Given the description of an element on the screen output the (x, y) to click on. 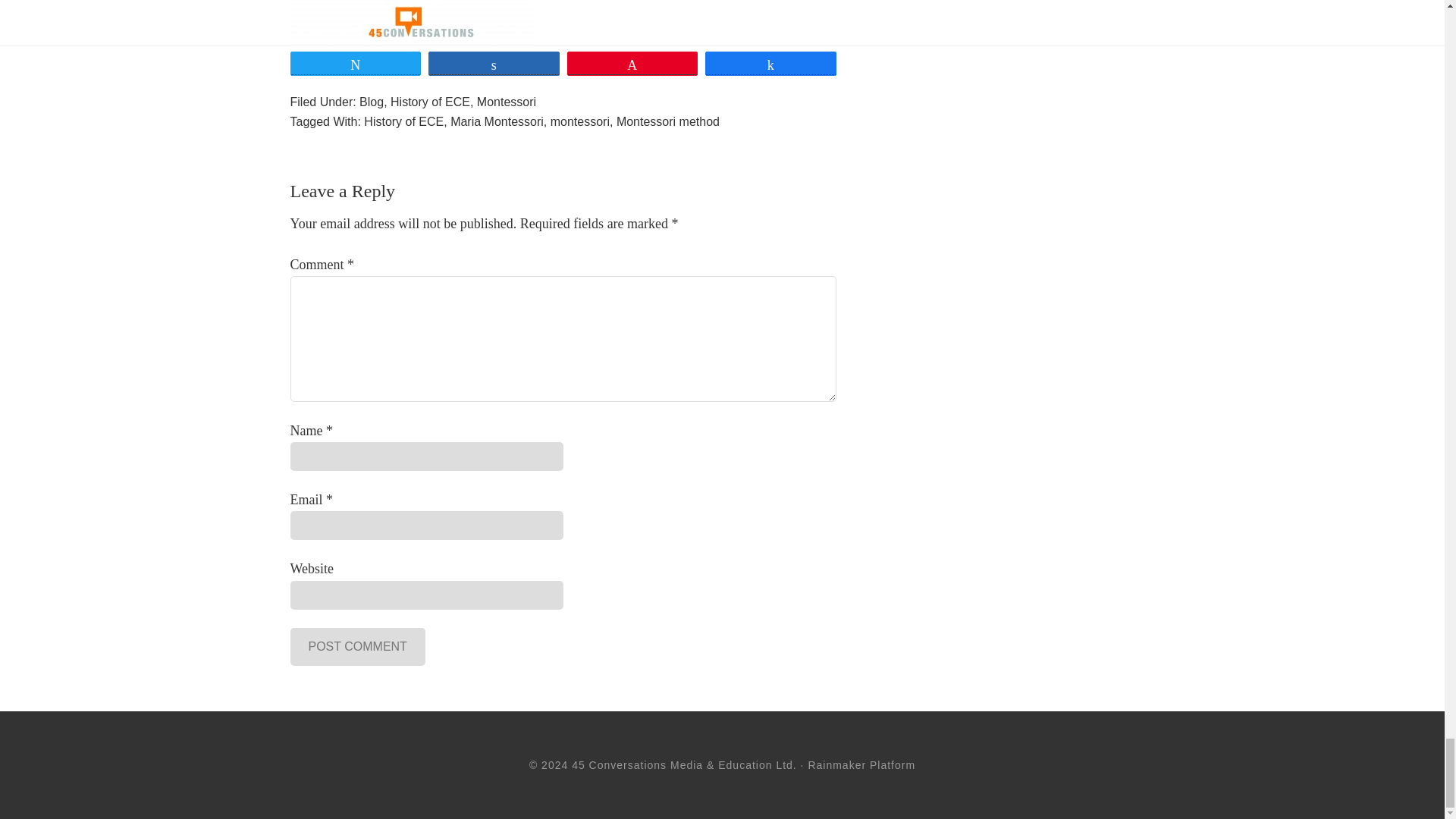
Montessori method (667, 121)
Montessori (506, 101)
History of ECE (404, 121)
Blog (371, 101)
Maria Montessori (496, 121)
montessori (580, 121)
Post Comment (357, 646)
Post Comment (357, 646)
History of ECE (430, 101)
